Given the description of an element on the screen output the (x, y) to click on. 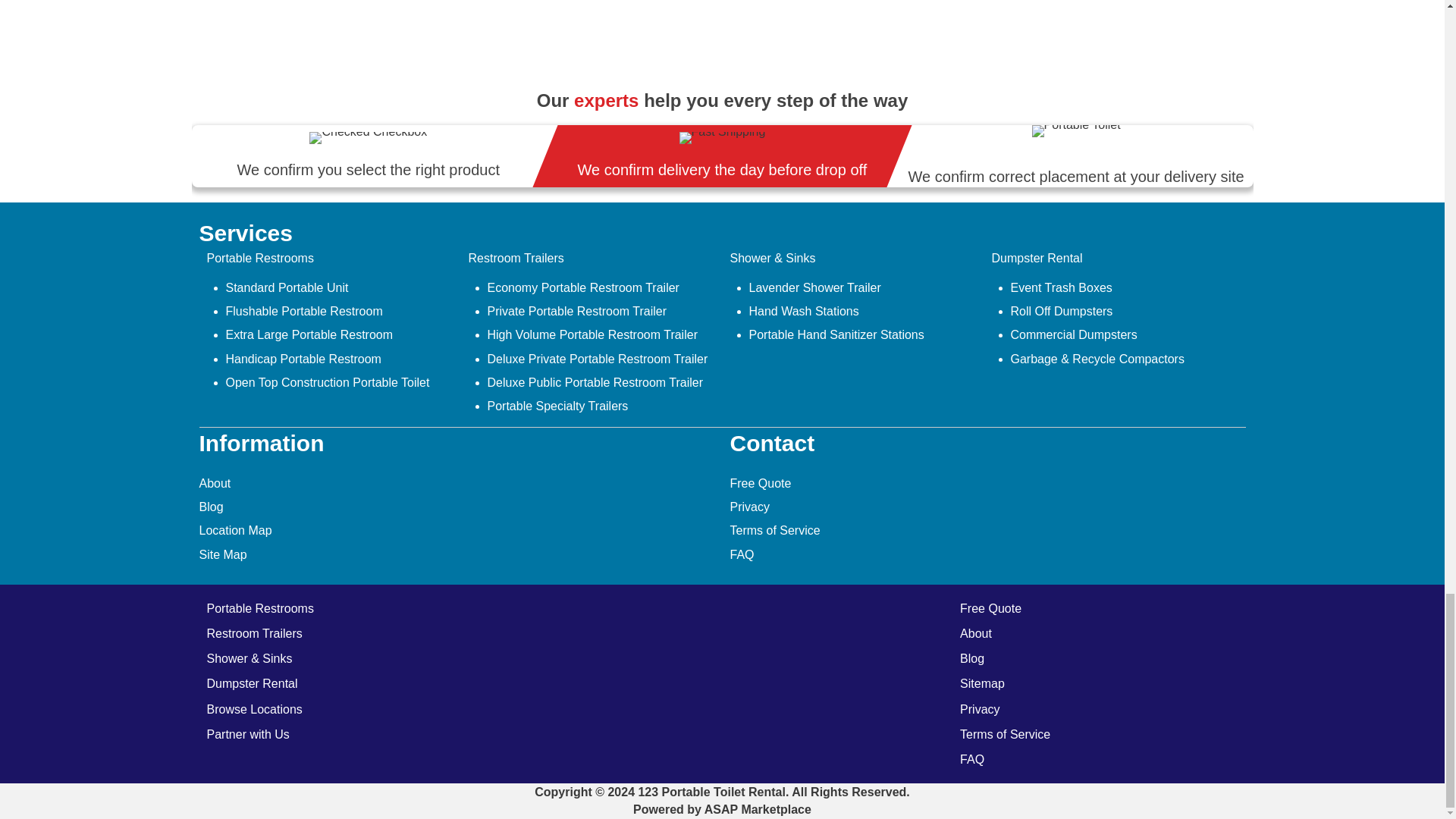
Checked Checkbox (367, 137)
Fast Shipping (722, 137)
Portable Toilet (1076, 131)
